Given the description of an element on the screen output the (x, y) to click on. 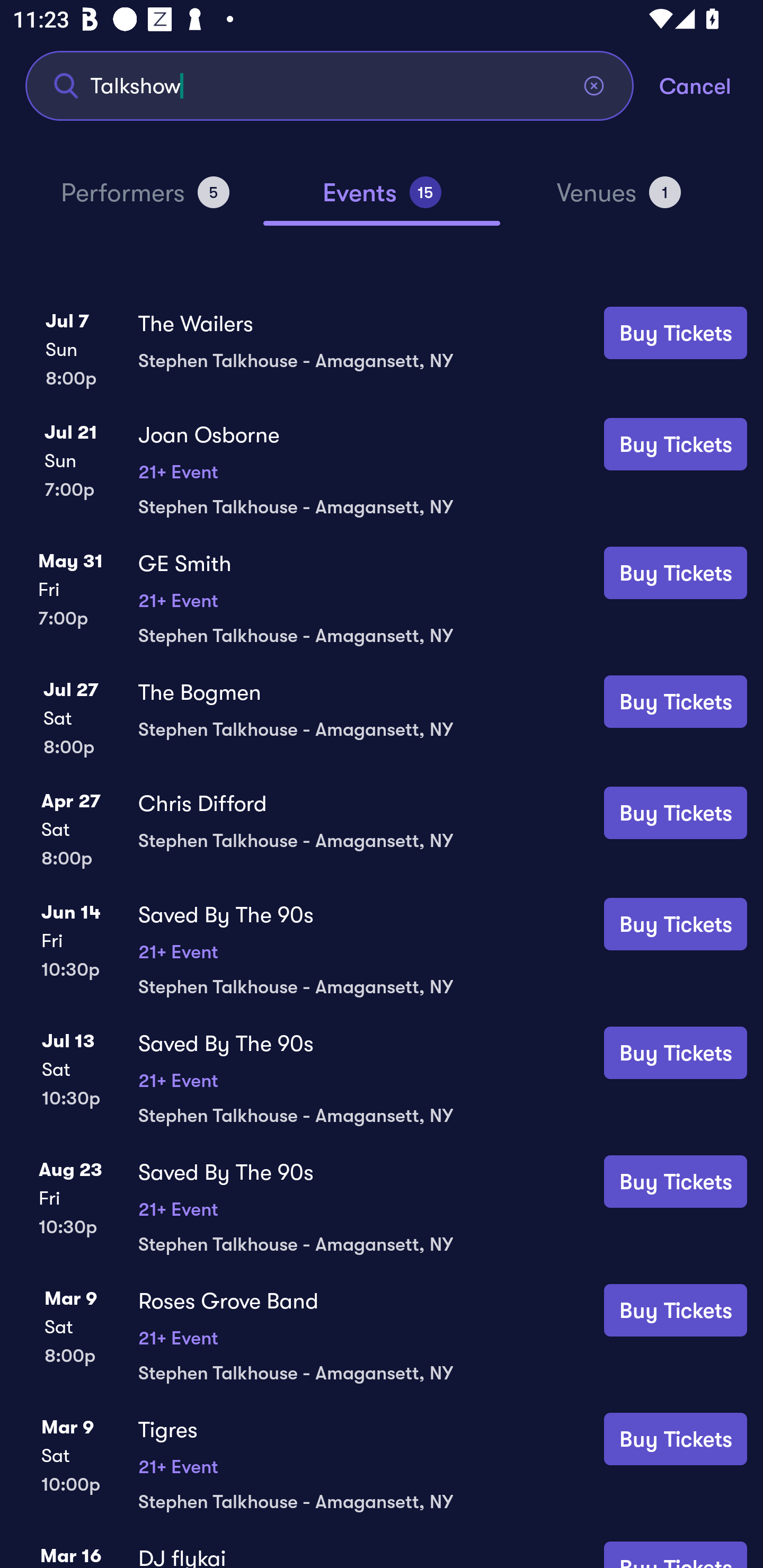
Cancel (711, 85)
Talkshow Find (329, 85)
Talkshow Find (329, 85)
Performers 5 (144, 200)
Events 15 (381, 200)
Venues 1 (618, 200)
